Given the description of an element on the screen output the (x, y) to click on. 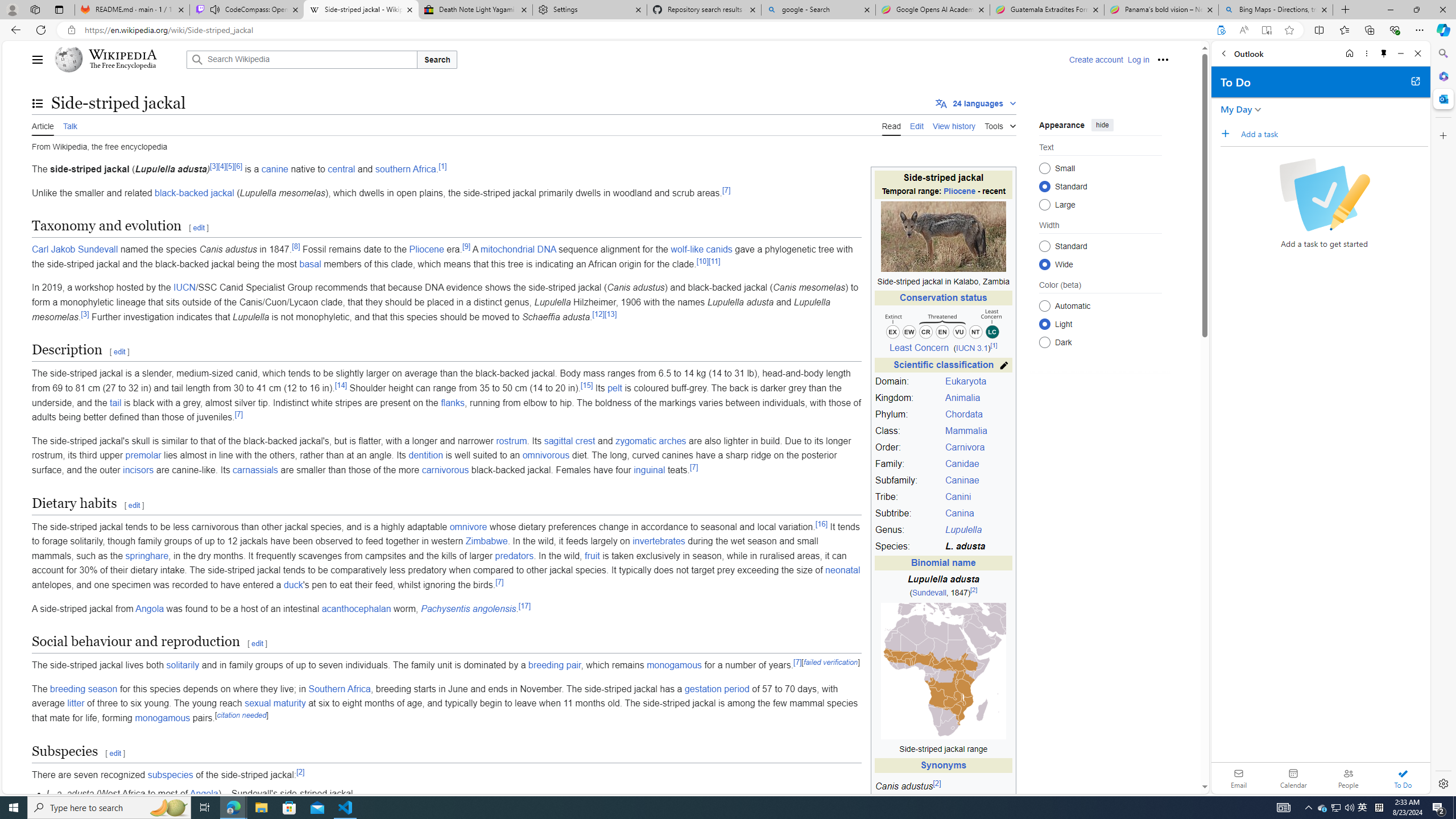
[12] (598, 313)
acanthocephalan (356, 608)
Talk (69, 124)
sexual maturity (274, 703)
Eukaryota (965, 381)
central (341, 169)
[15] (586, 384)
Pachysentis angolensis (468, 608)
IUCN (184, 287)
Carl Jakob Sundevall (74, 249)
tail (115, 402)
Email (1238, 777)
